Given the description of an element on the screen output the (x, y) to click on. 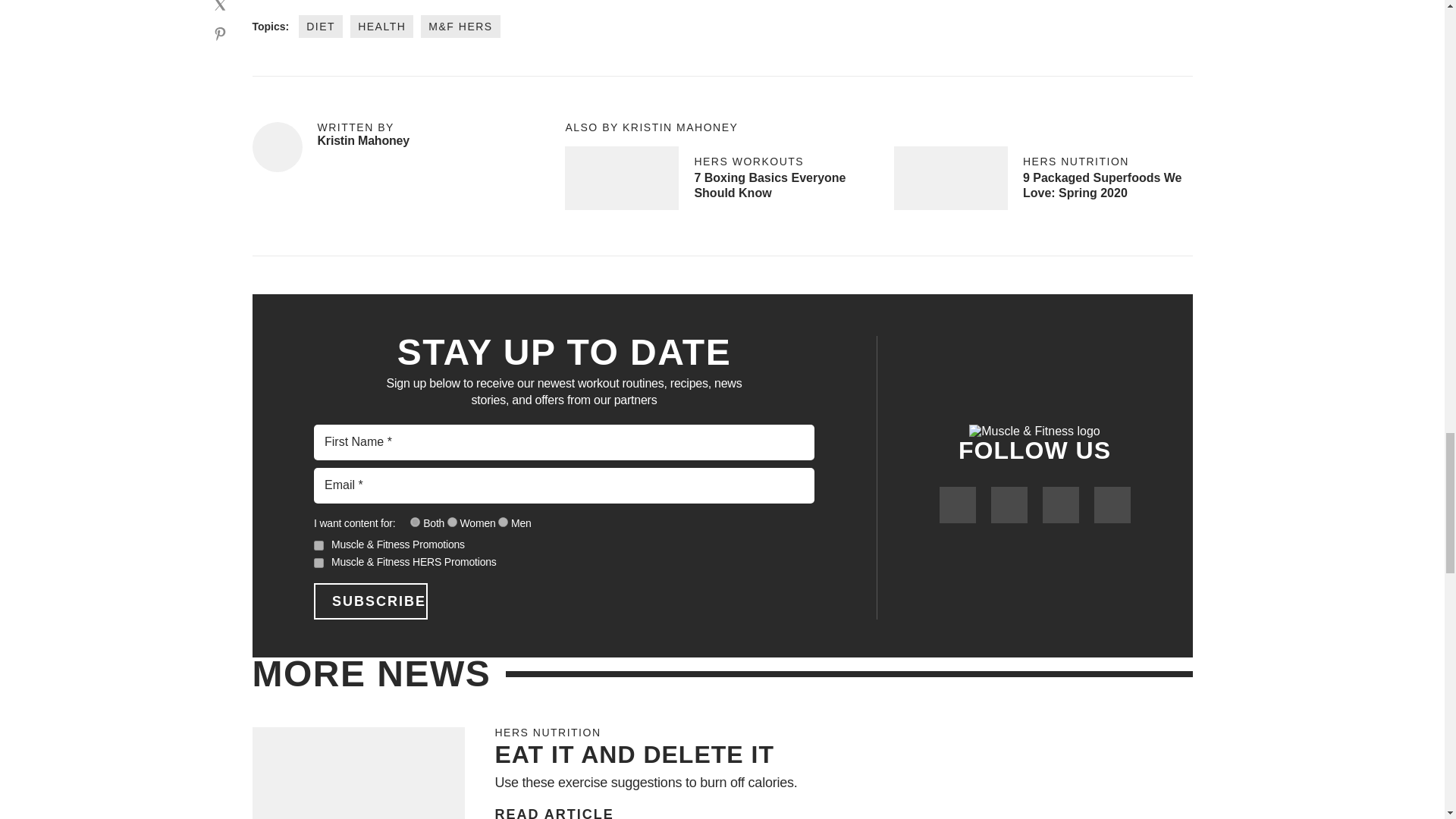
Muscle and Fitness on Pinterest (1111, 504)
Muscle and Fitness on Facebook (957, 504)
Posts by Kristin Mahoney (363, 140)
737 (451, 521)
Muscle and Fitness on YouTube (1060, 504)
735 (415, 521)
739 (502, 521)
Muscle and Fitness on Twitter (1008, 504)
